Given the description of an element on the screen output the (x, y) to click on. 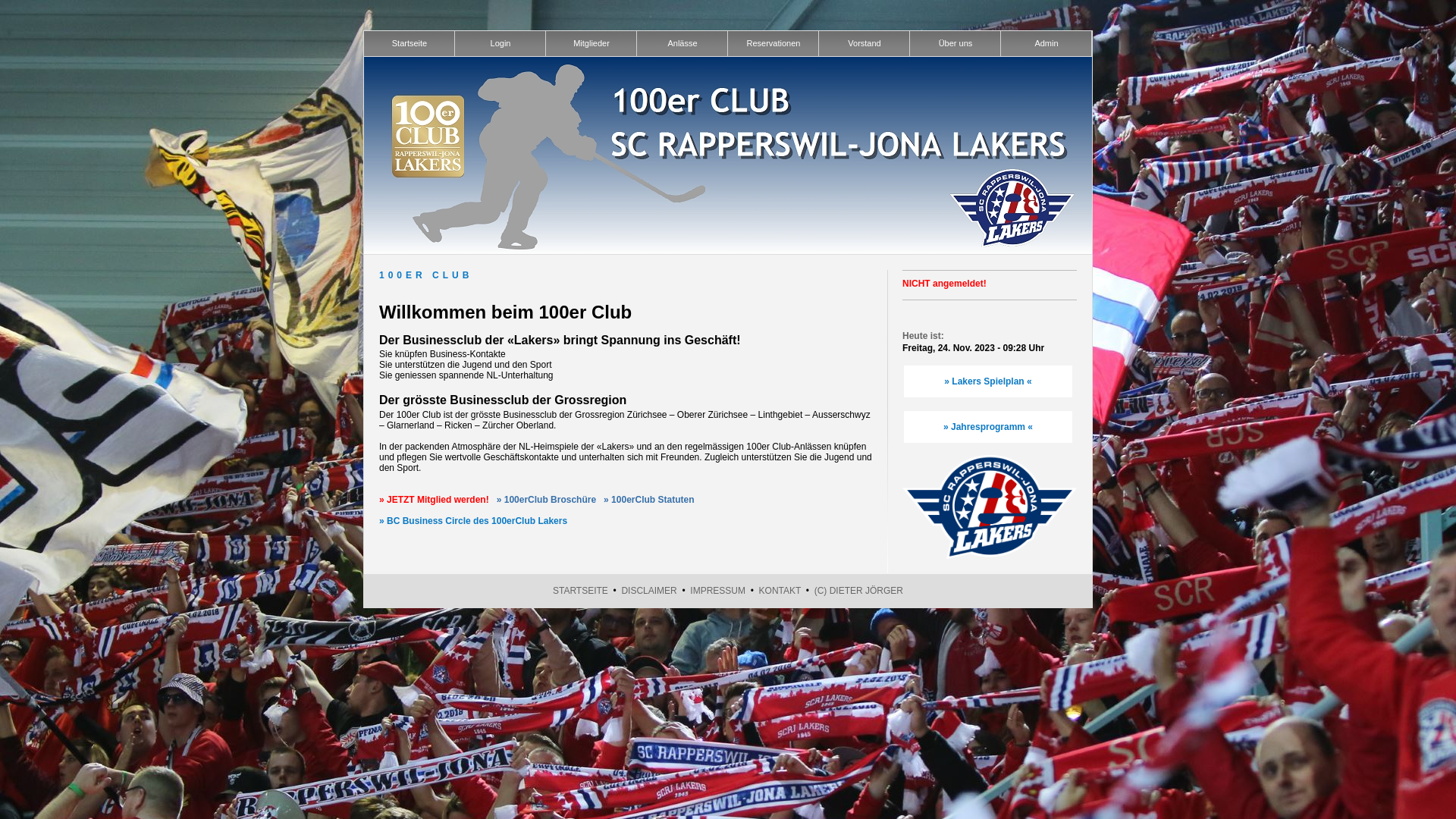
Admin Element type: text (1046, 43)
KONTAKT Element type: text (780, 590)
STARTSEITE Element type: text (580, 590)
Login Element type: text (500, 43)
Reservationen Element type: text (773, 43)
IMPRESSUM Element type: text (717, 590)
Mitglieder Element type: text (591, 43)
Vorstand Element type: text (864, 43)
DISCLAIMER Element type: text (648, 590)
Startseite Element type: text (409, 43)
